Given the description of an element on the screen output the (x, y) to click on. 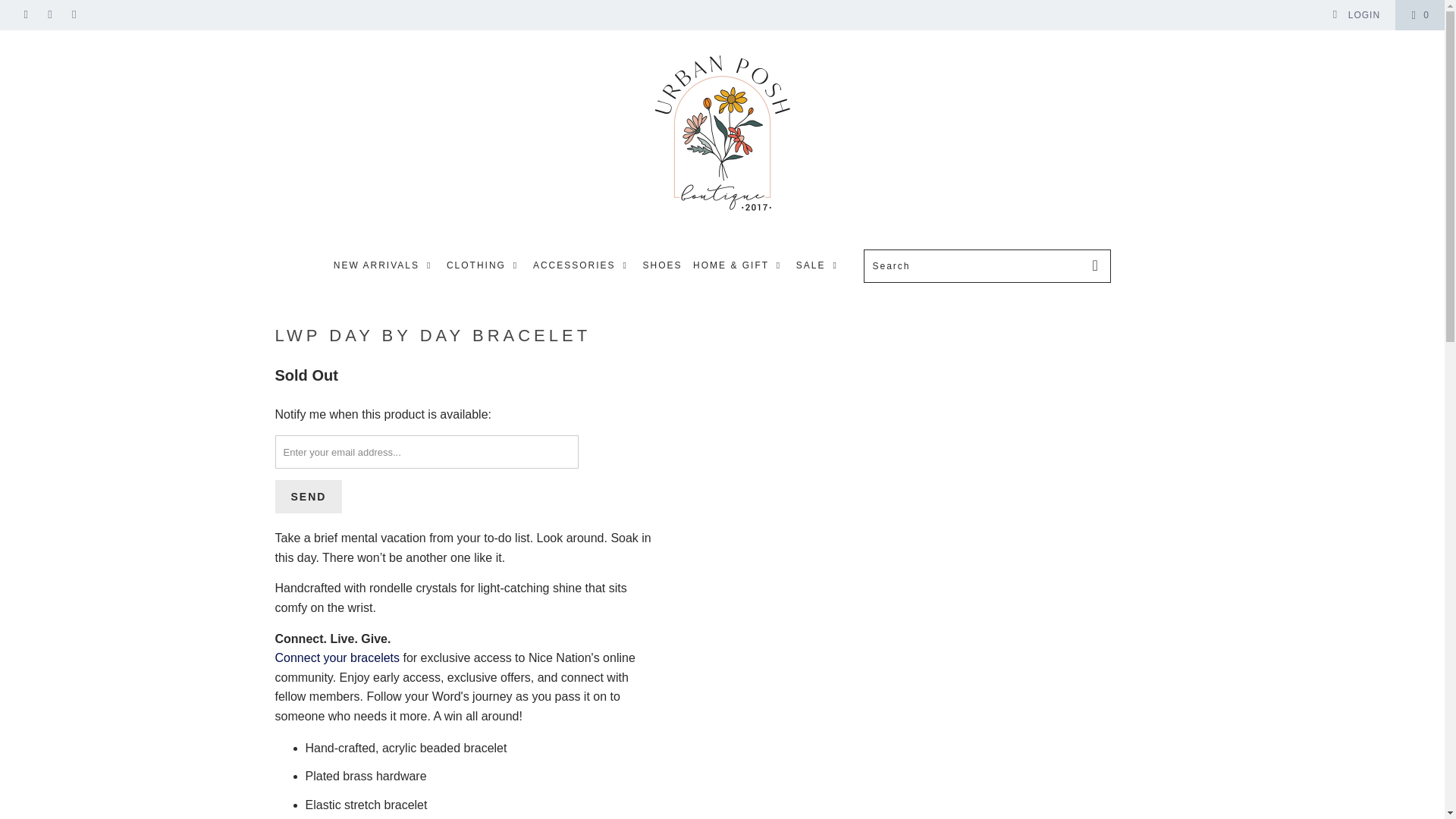
Urban Posh Boutique on Facebook (25, 14)
Urban Posh Boutique on Instagram (49, 14)
My Account  (1355, 15)
Send (308, 496)
Email Urban Posh Boutique (73, 14)
